Given the description of an element on the screen output the (x, y) to click on. 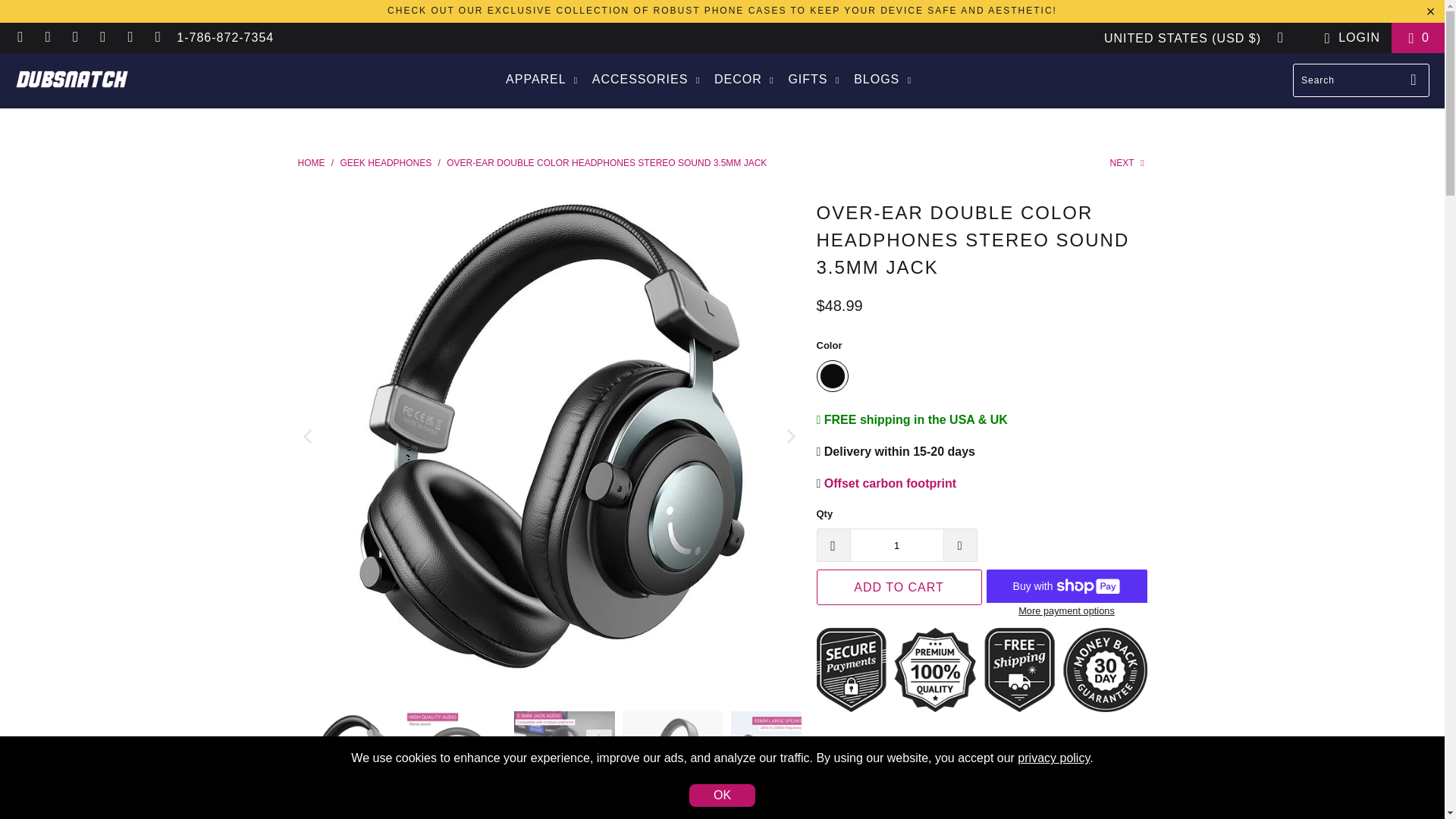
Dubsnatch on Spotify (102, 37)
My Account  (1348, 37)
Dubsnatch on Pinterest (74, 37)
Offset carbon footprint (890, 482)
Dubsnatch on Instagram (47, 37)
Dubsnatch on Discord (19, 37)
Dubsnatch (310, 163)
Geek Headphones (386, 163)
Next (1128, 163)
1 (895, 544)
